Given the description of an element on the screen output the (x, y) to click on. 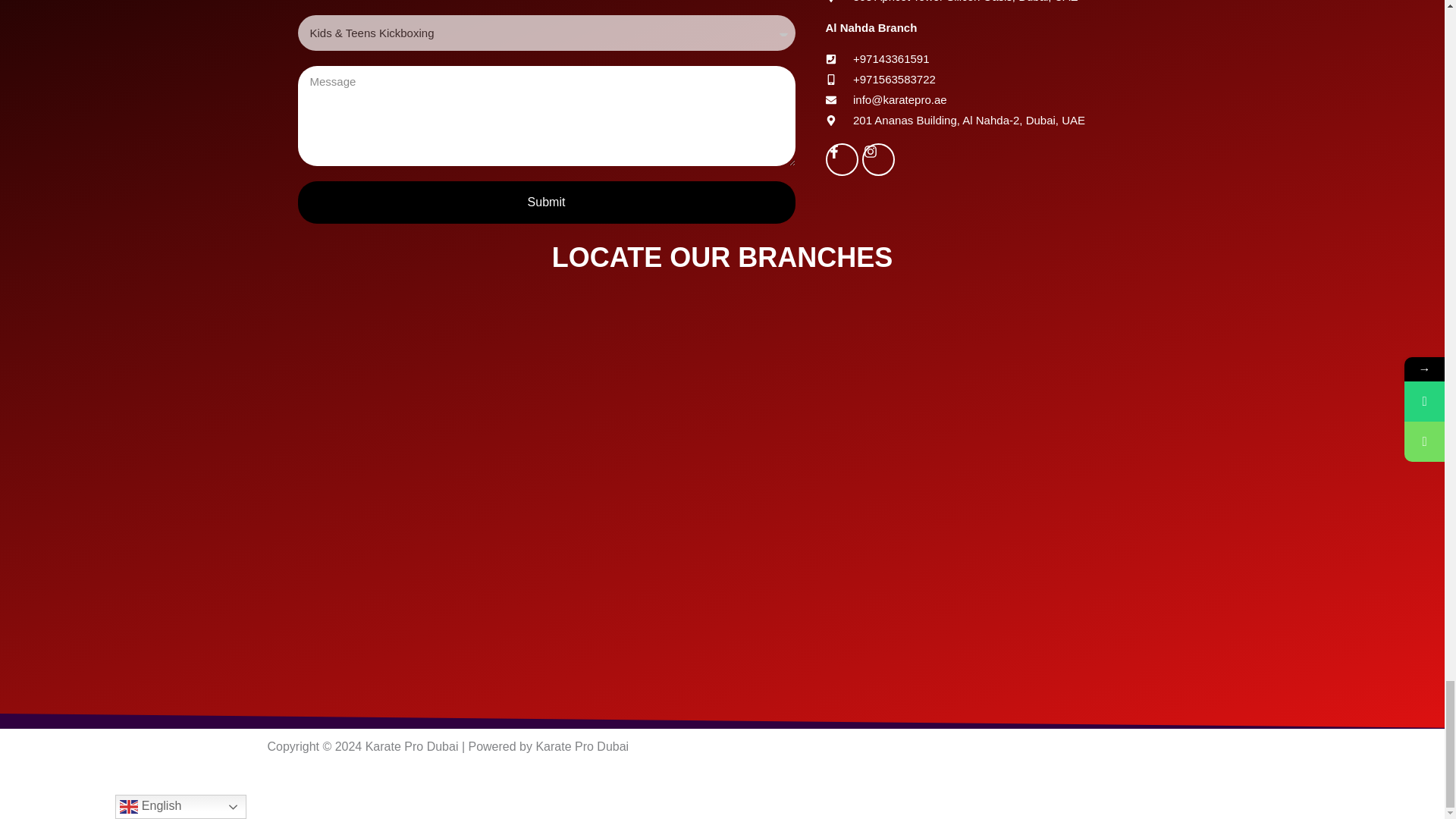
Facebook-f (841, 159)
Instagram (878, 159)
Submit (545, 201)
